Given the description of an element on the screen output the (x, y) to click on. 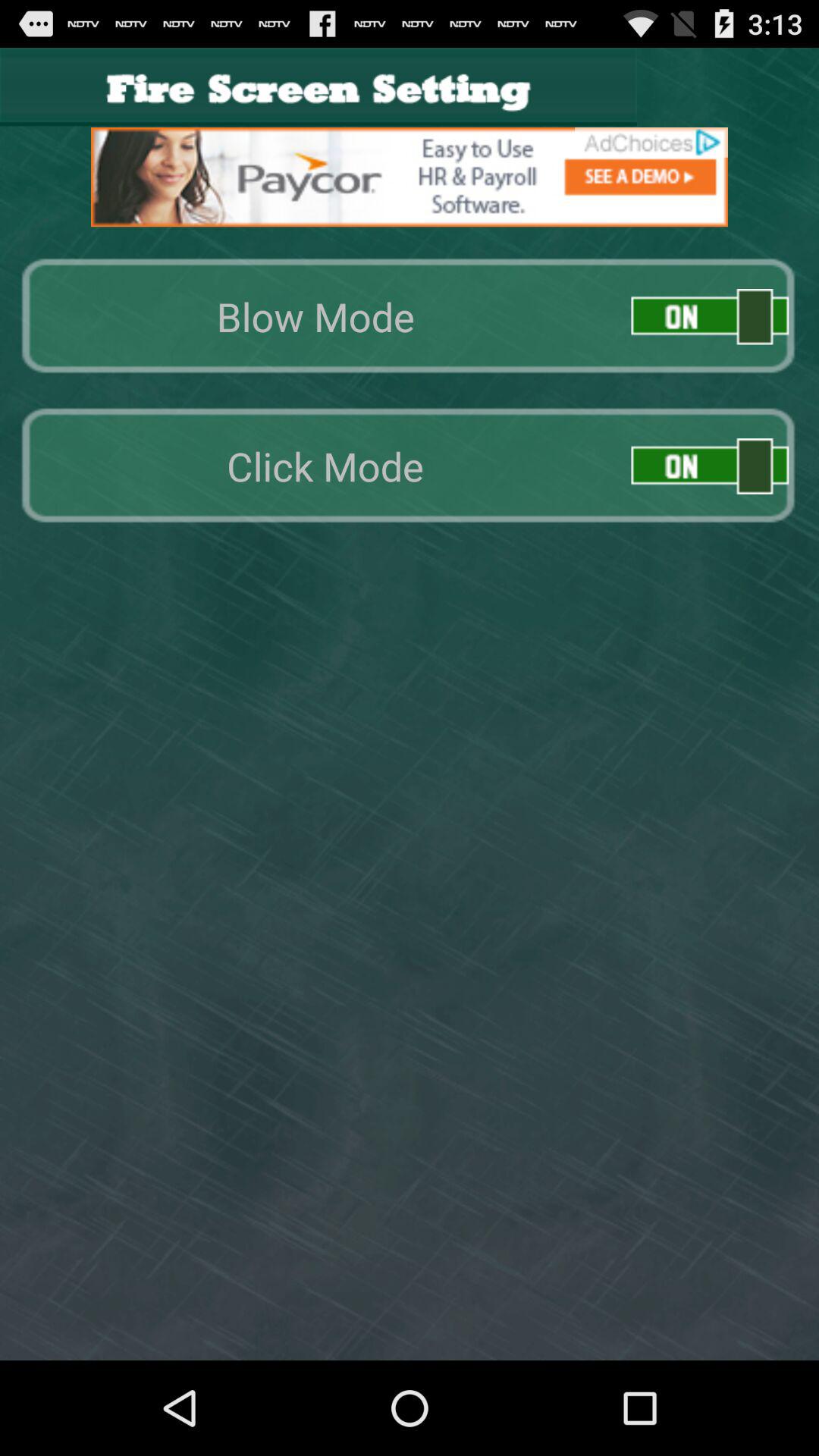
enable blow mode option (709, 316)
